Given the description of an element on the screen output the (x, y) to click on. 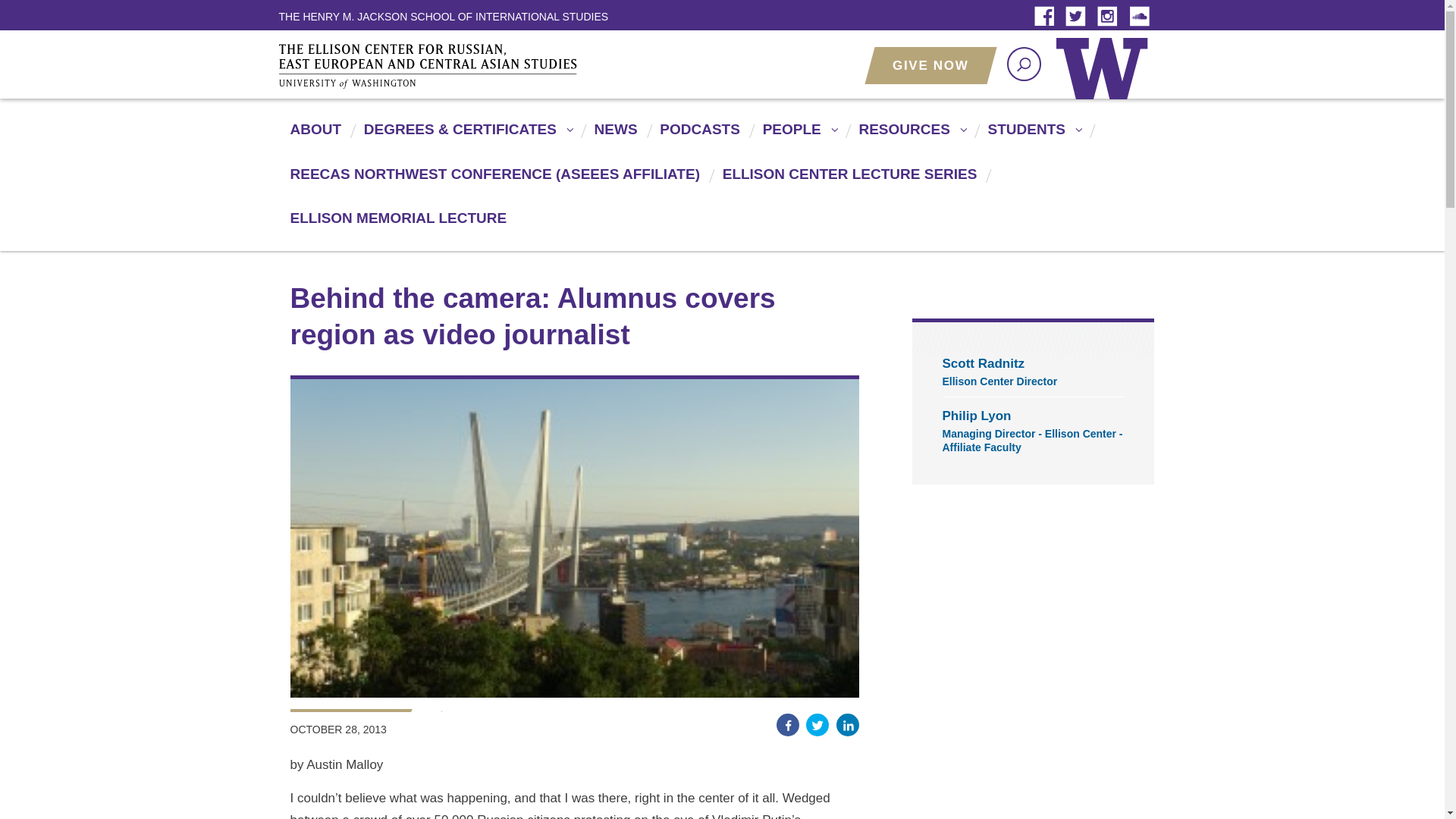
Soundcloud (1140, 17)
THE HENRY M. JACKSON SCHOOL OF INTERNATIONAL STUDIES (443, 16)
TWITTER (1079, 17)
PODCASTS (697, 135)
The Henry M. Jackson School of International Studies Home (443, 16)
ABOUT (314, 135)
Give Now (930, 65)
Instagram (1110, 17)
Facebook (1047, 17)
PEOPLE (797, 135)
The Ellison Center (449, 65)
SOUNDLCOUD (1140, 17)
University of Washington (1104, 79)
NEWS (614, 135)
